Given the description of an element on the screen output the (x, y) to click on. 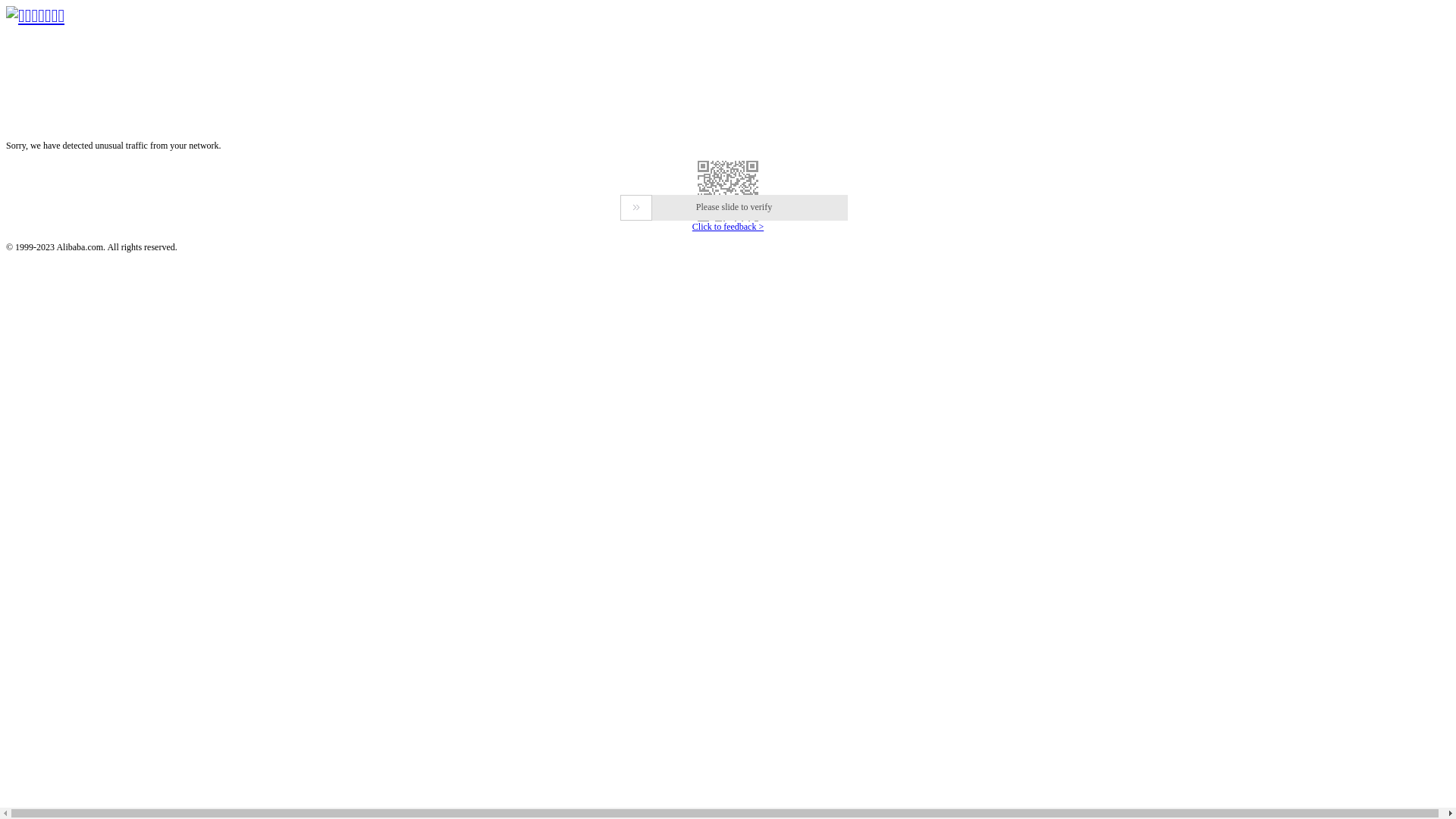
pOAI0u5aT211PITnAMyVXA|ZWIazA|gqtLDQ_0 Element type: hover (727, 190)
Click to feedback > Element type: text (727, 226)
